Given the description of an element on the screen output the (x, y) to click on. 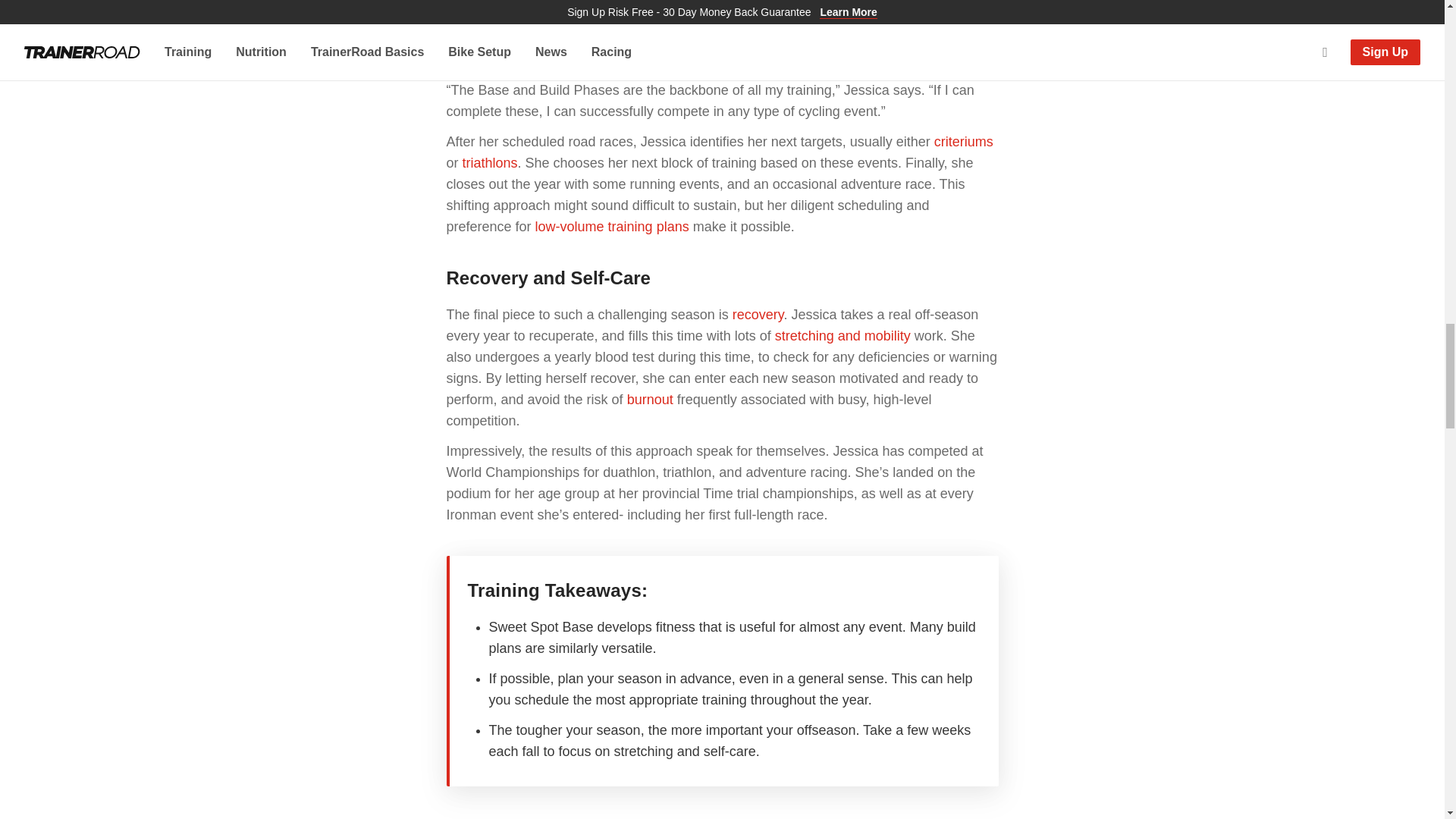
Short Power Build (847, 38)
criteriums (963, 141)
stretching and mobility (842, 335)
recovery (758, 314)
burnout (649, 399)
low-volume training plans (611, 226)
triathlons (490, 162)
Sweet Spot Base (653, 17)
